Given the description of an element on the screen output the (x, y) to click on. 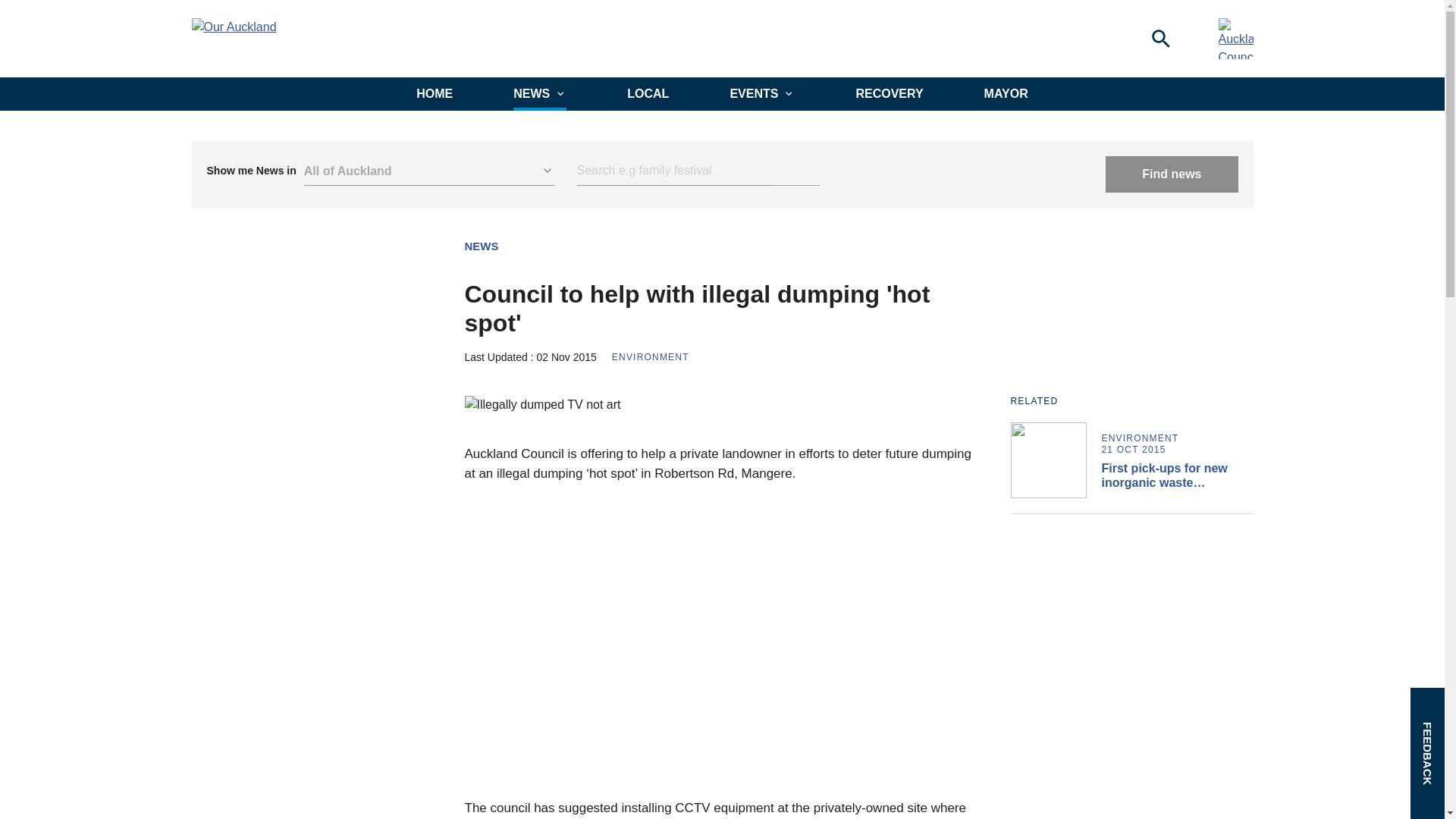
RECOVERY (889, 93)
LOCAL (647, 93)
HOME (434, 93)
EVENTS (761, 93)
NEWS (480, 245)
Search (697, 170)
ENVIRONMENT (649, 357)
NEWS (539, 93)
Toggle search (1160, 38)
MAYOR (1005, 93)
